Given the description of an element on the screen output the (x, y) to click on. 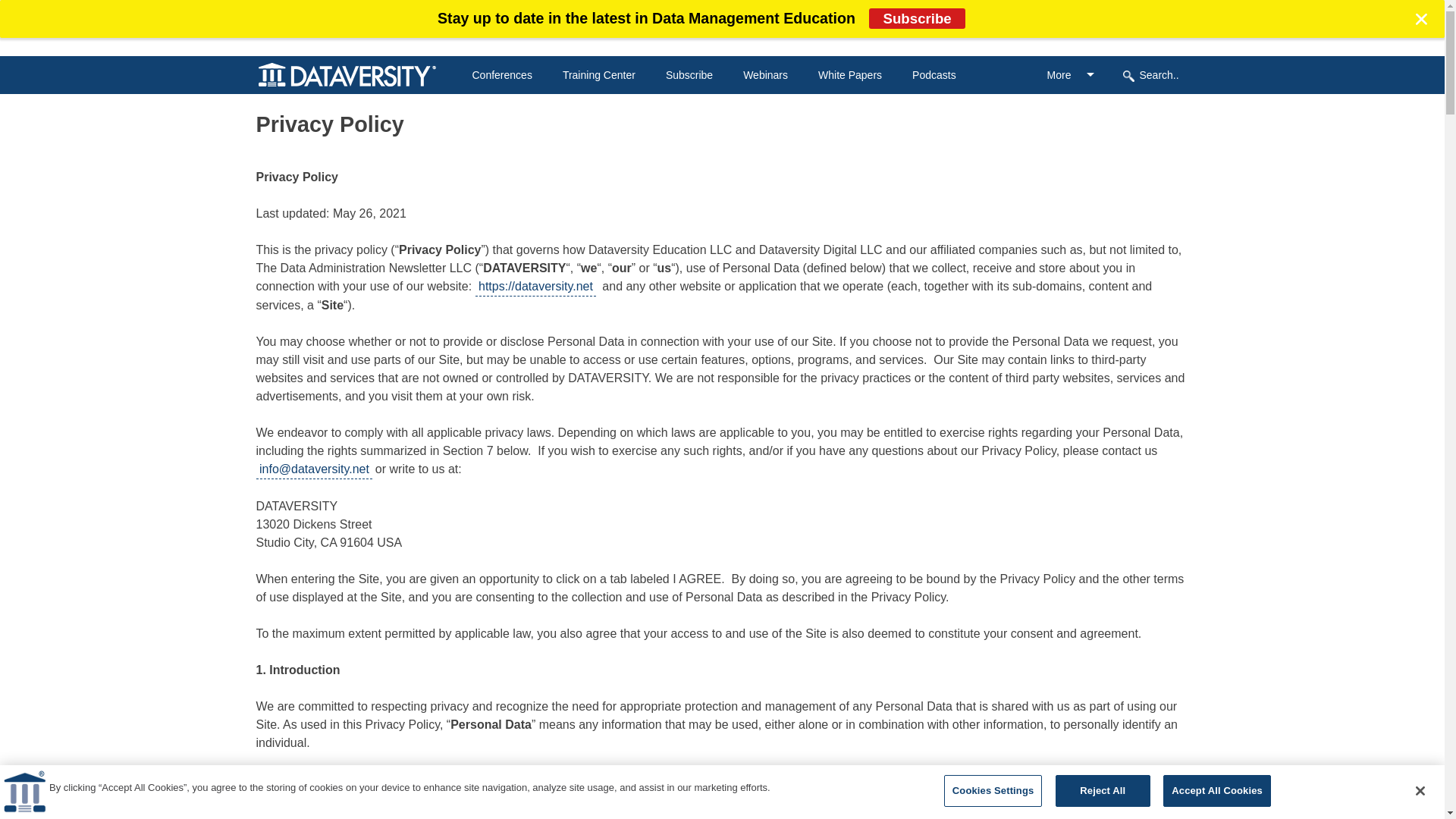
Training Center (598, 74)
Conferences (501, 74)
Webinars (764, 74)
Podcasts (934, 74)
Subscribe (689, 74)
Subscribe (689, 74)
White Papers (850, 74)
DATAVERSITY Education LLC (24, 792)
